Given the description of an element on the screen output the (x, y) to click on. 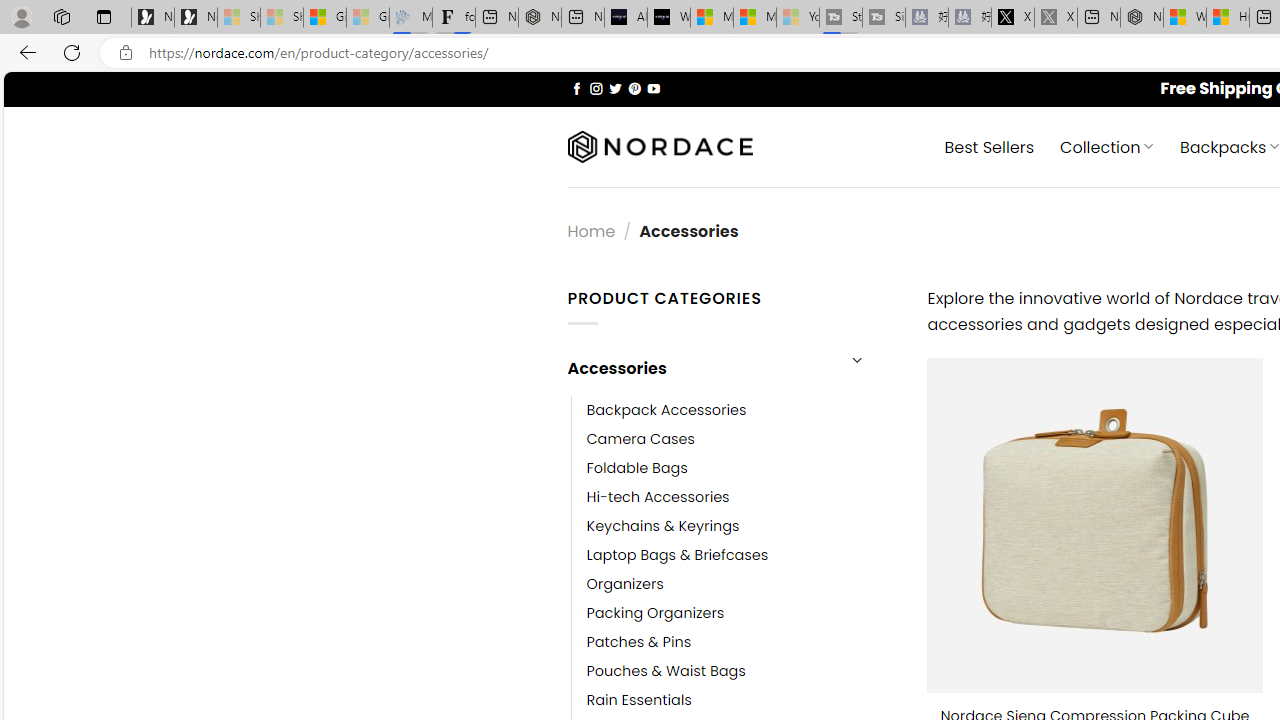
Newsletter Sign Up (196, 17)
Follow on YouTube (653, 88)
AI Voice Changer for PC and Mac - Voice.ai (625, 17)
Laptop Bags & Briefcases (677, 555)
